Given the description of an element on the screen output the (x, y) to click on. 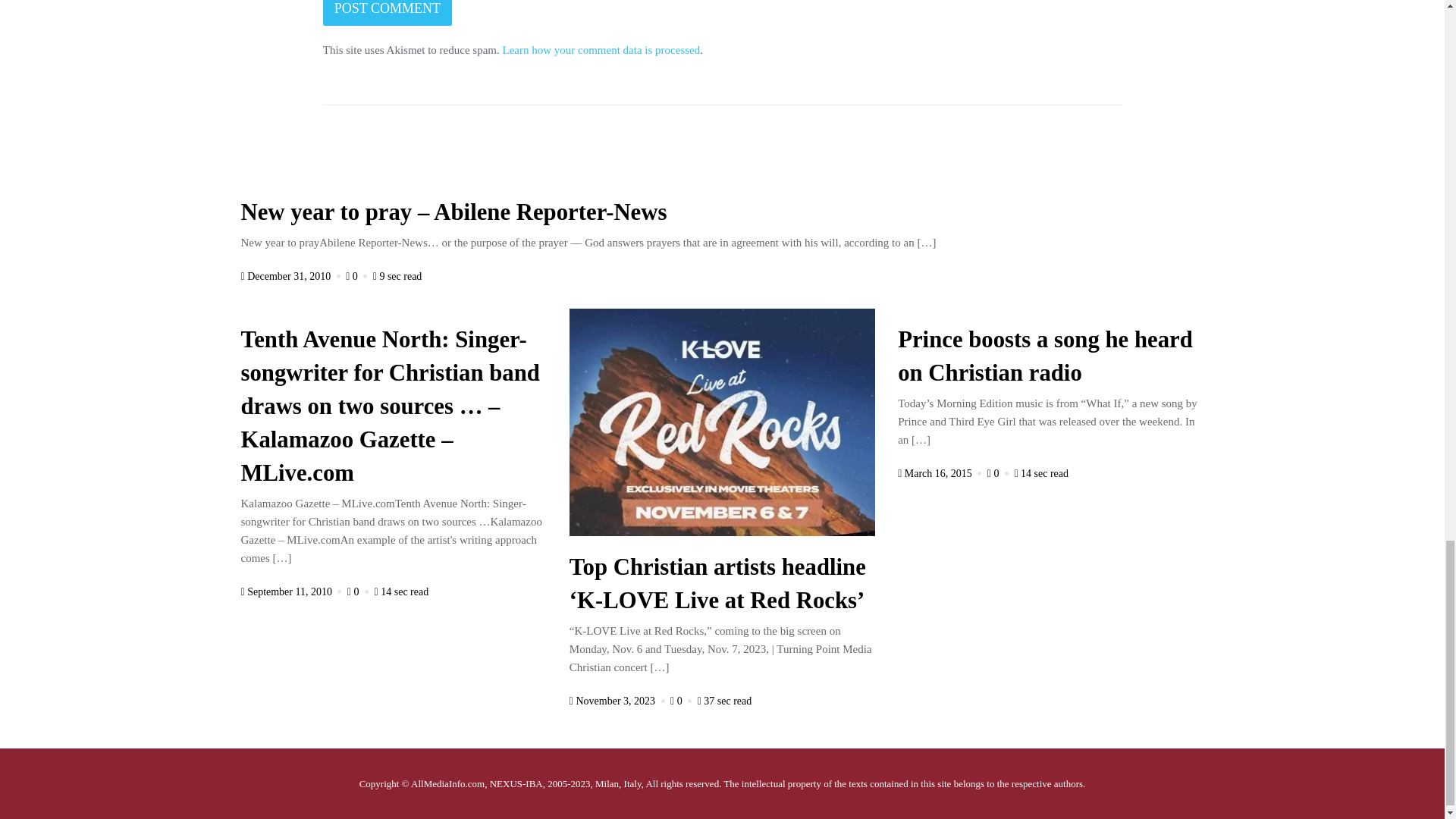
Post Comment (387, 12)
